Given the description of an element on the screen output the (x, y) to click on. 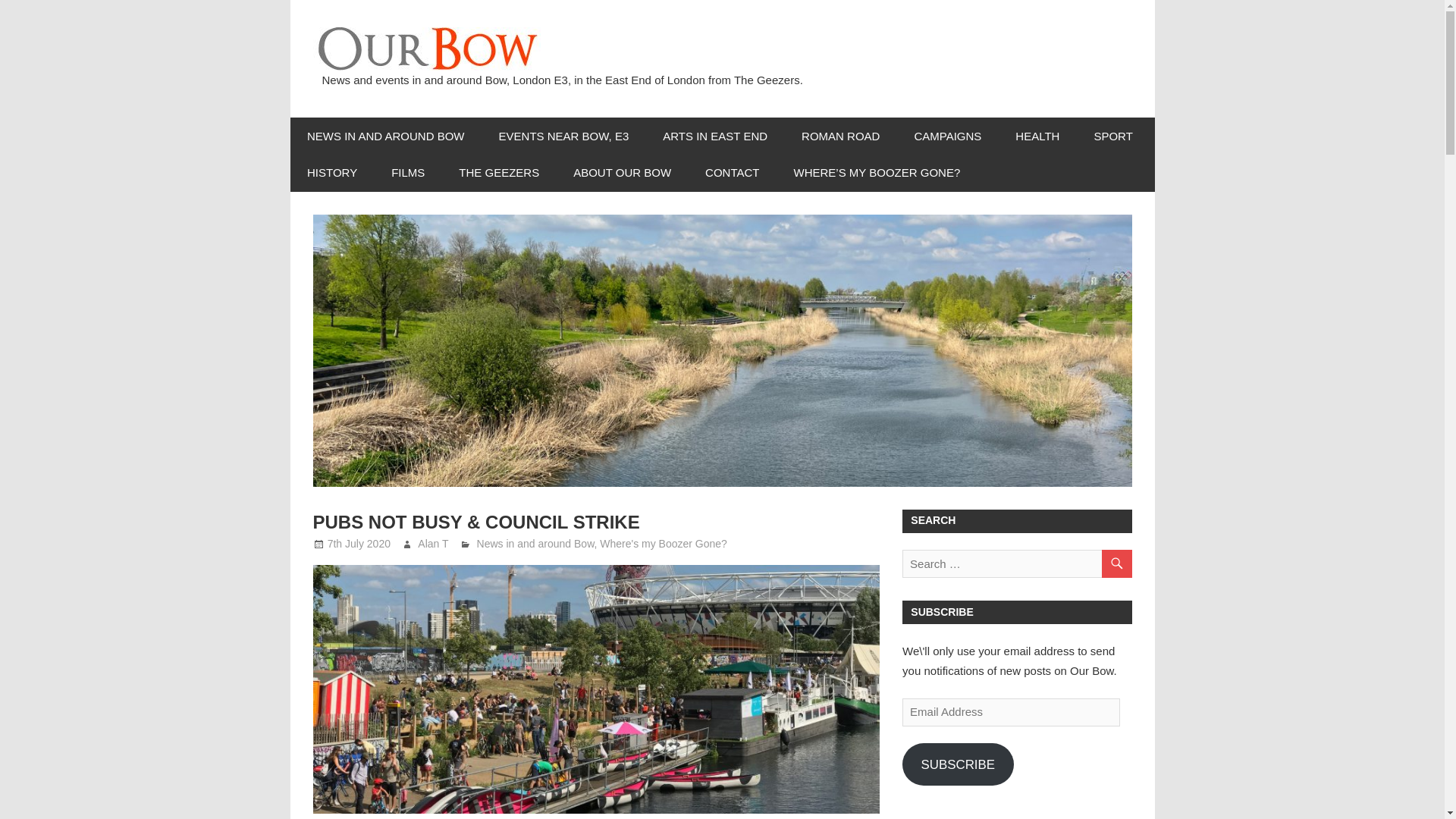
View all posts by Alan T (432, 543)
FILMS (408, 172)
Where's my Boozer Gone? (662, 543)
CONTACT (732, 172)
ARTS IN EAST END (715, 135)
HEALTH (1037, 135)
News in and around Bow (535, 543)
CAMPAIGNS (947, 135)
SUBSCRIBE (957, 763)
EVENTS NEAR BOW, E3 (563, 135)
